Given the description of an element on the screen output the (x, y) to click on. 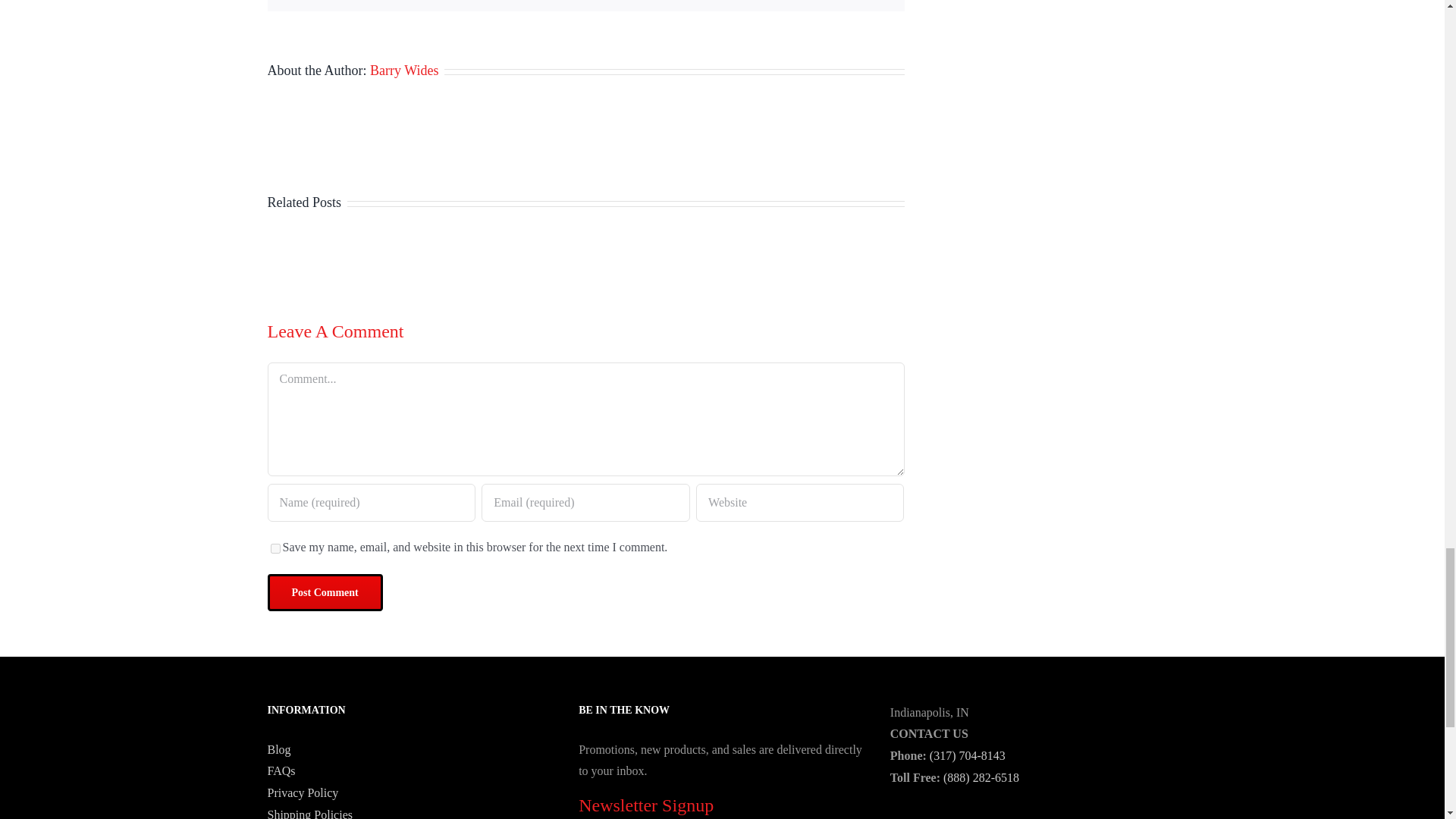
yes (274, 548)
Post Comment (323, 592)
Posts by Barry Wides (403, 70)
Barry Wides (403, 70)
